Given the description of an element on the screen output the (x, y) to click on. 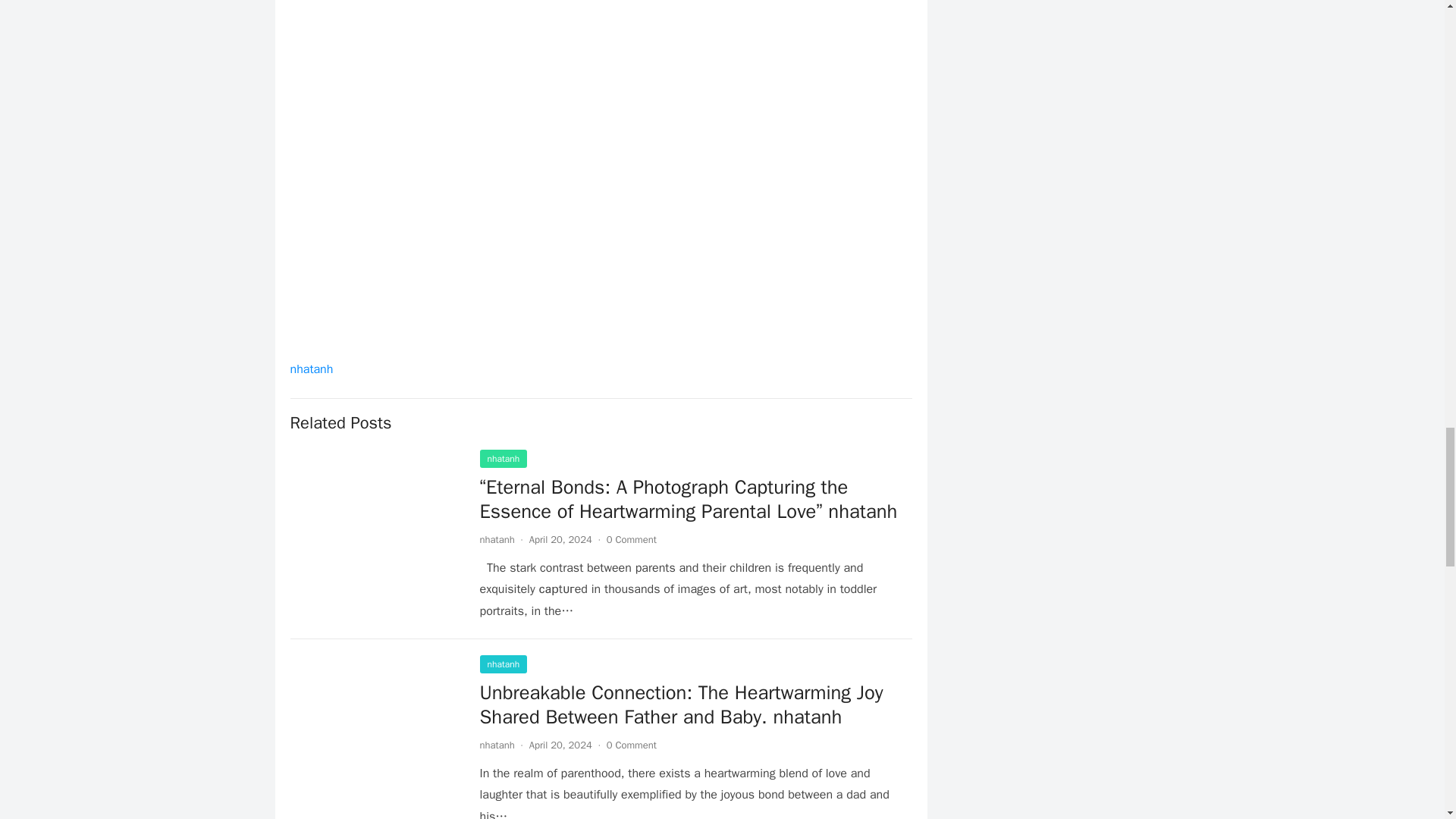
Posts by nhatanh (496, 539)
0 Comment (631, 539)
nhatanh (496, 539)
nhatanh (503, 458)
nhatanh (503, 664)
nhatanh (311, 368)
nhatanh (496, 744)
0 Comment (631, 744)
Posts by nhatanh (496, 744)
